Given the description of an element on the screen output the (x, y) to click on. 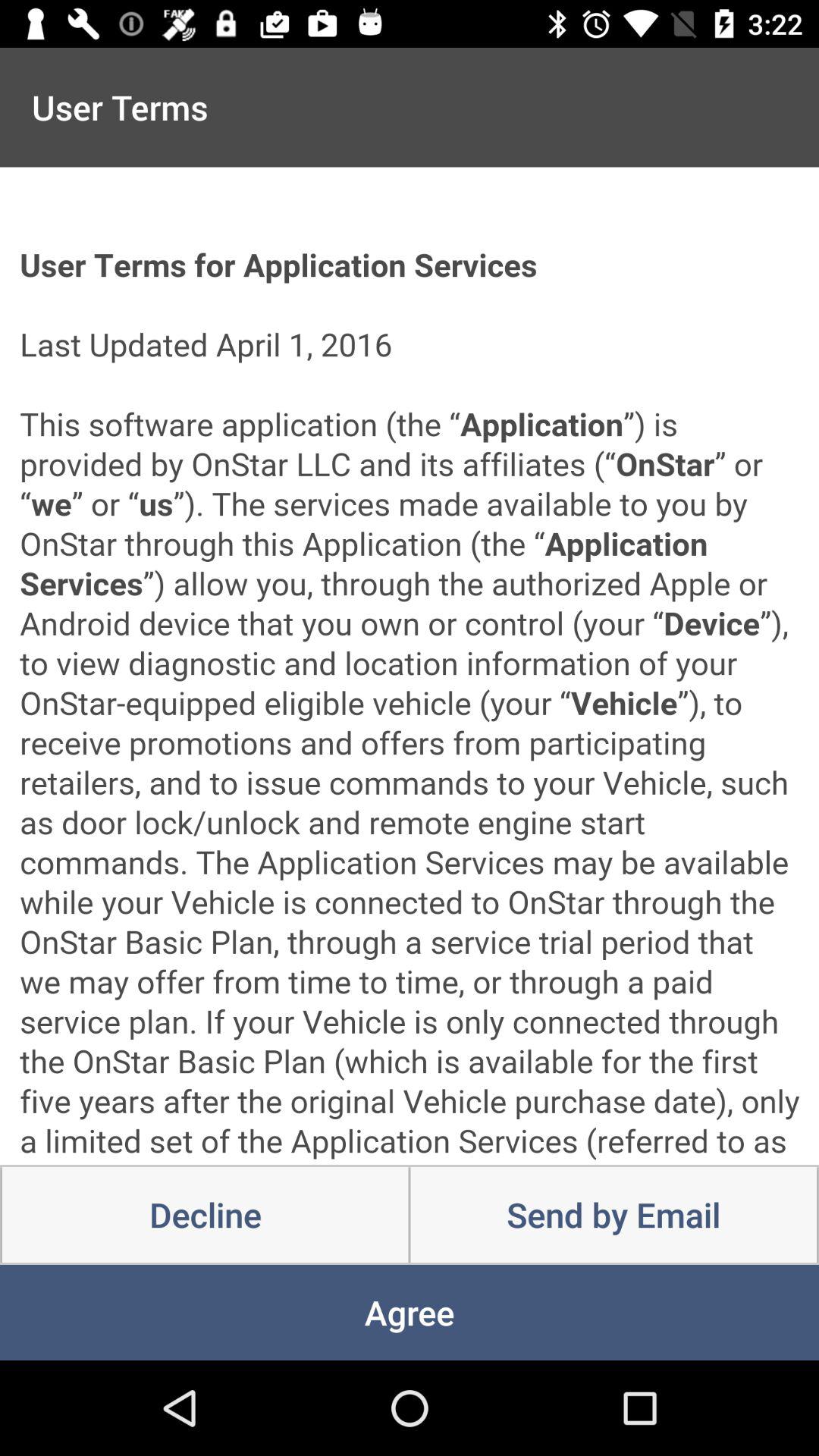
choose icon above agree (205, 1214)
